Given the description of an element on the screen output the (x, y) to click on. 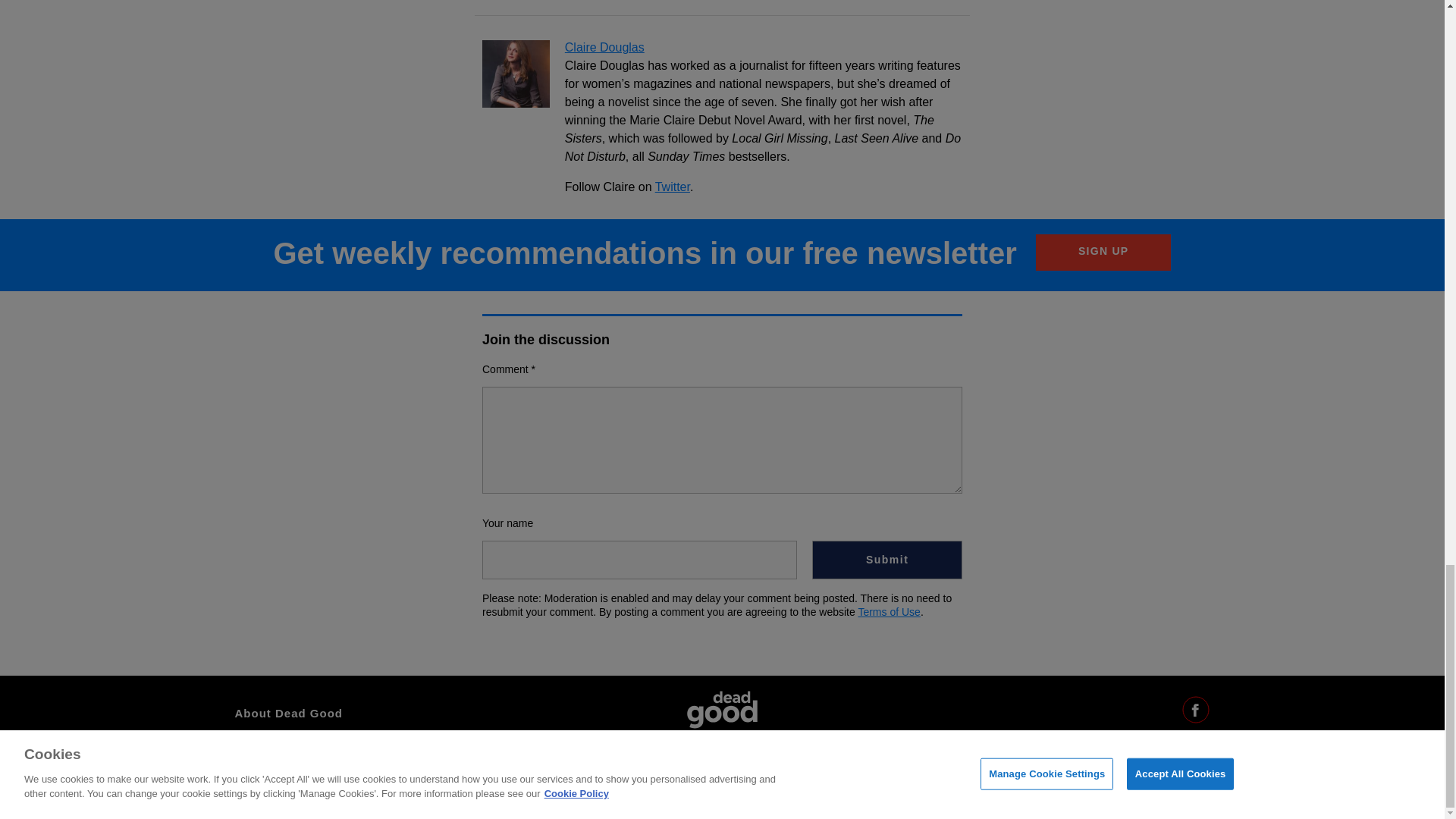
SIGN UP (1103, 252)
Terms of Use (888, 612)
About Dead Good (288, 712)
Submit (887, 559)
Submit (887, 559)
Twitter (672, 186)
Claire Douglas (604, 47)
